Given the description of an element on the screen output the (x, y) to click on. 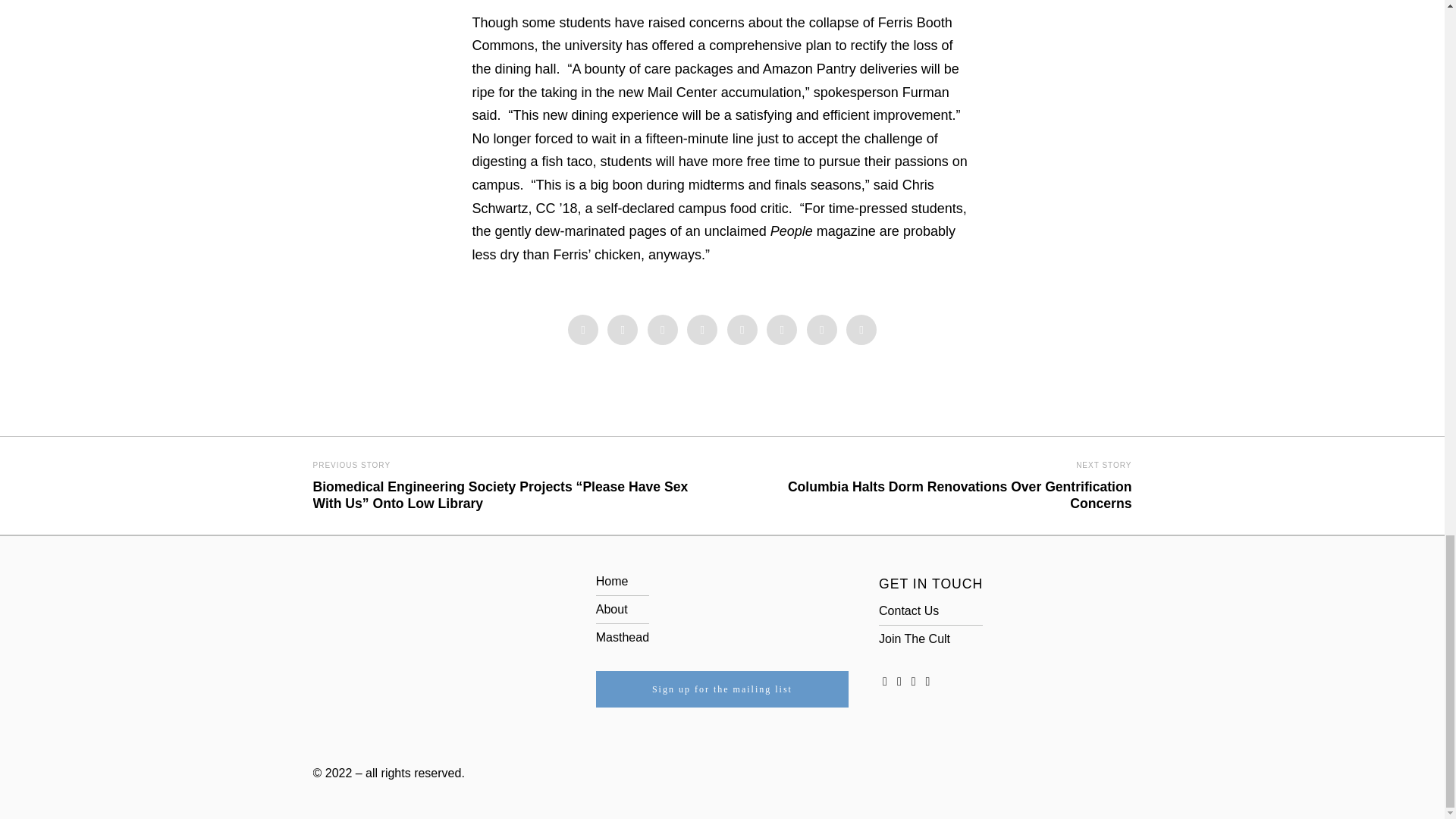
Sign up for the mailing list (721, 688)
Masthead (622, 636)
Home (611, 581)
About (611, 608)
